Given the description of an element on the screen output the (x, y) to click on. 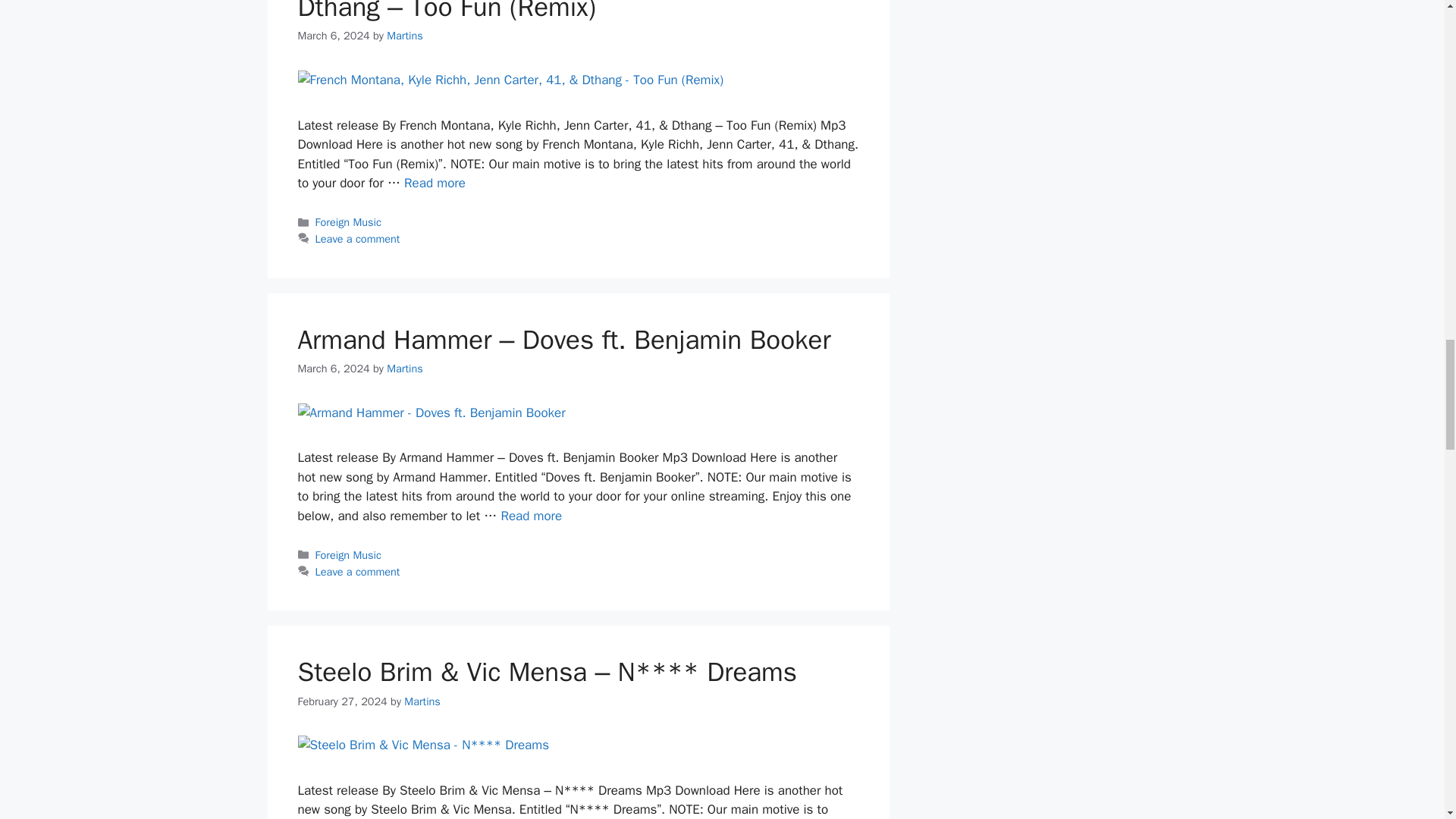
View all posts by Martins (405, 368)
View all posts by Martins (422, 701)
View all posts by Martins (405, 35)
